Given the description of an element on the screen output the (x, y) to click on. 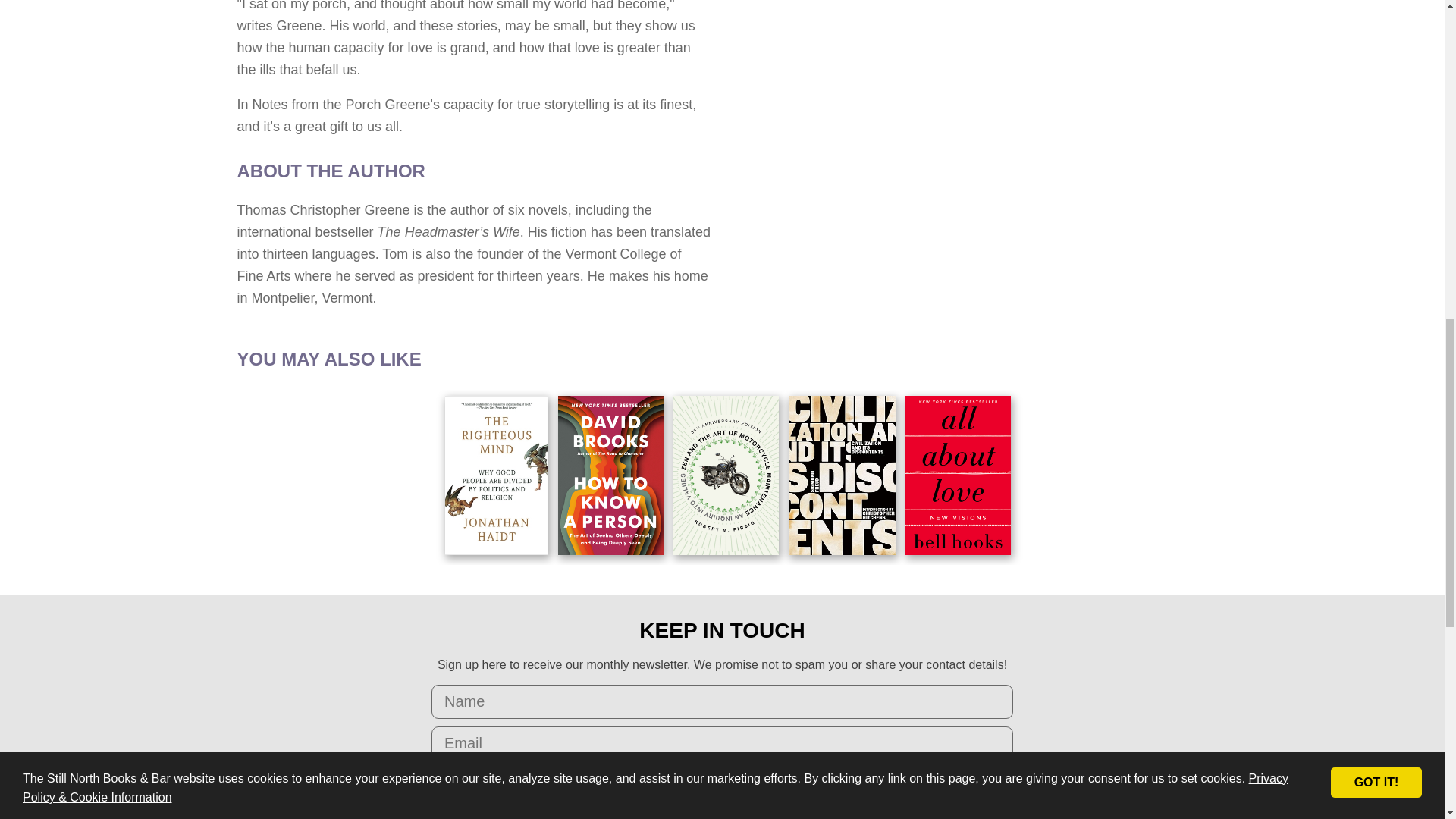
Join (721, 782)
GOT IT! (1376, 55)
Join (721, 782)
